Given the description of an element on the screen output the (x, y) to click on. 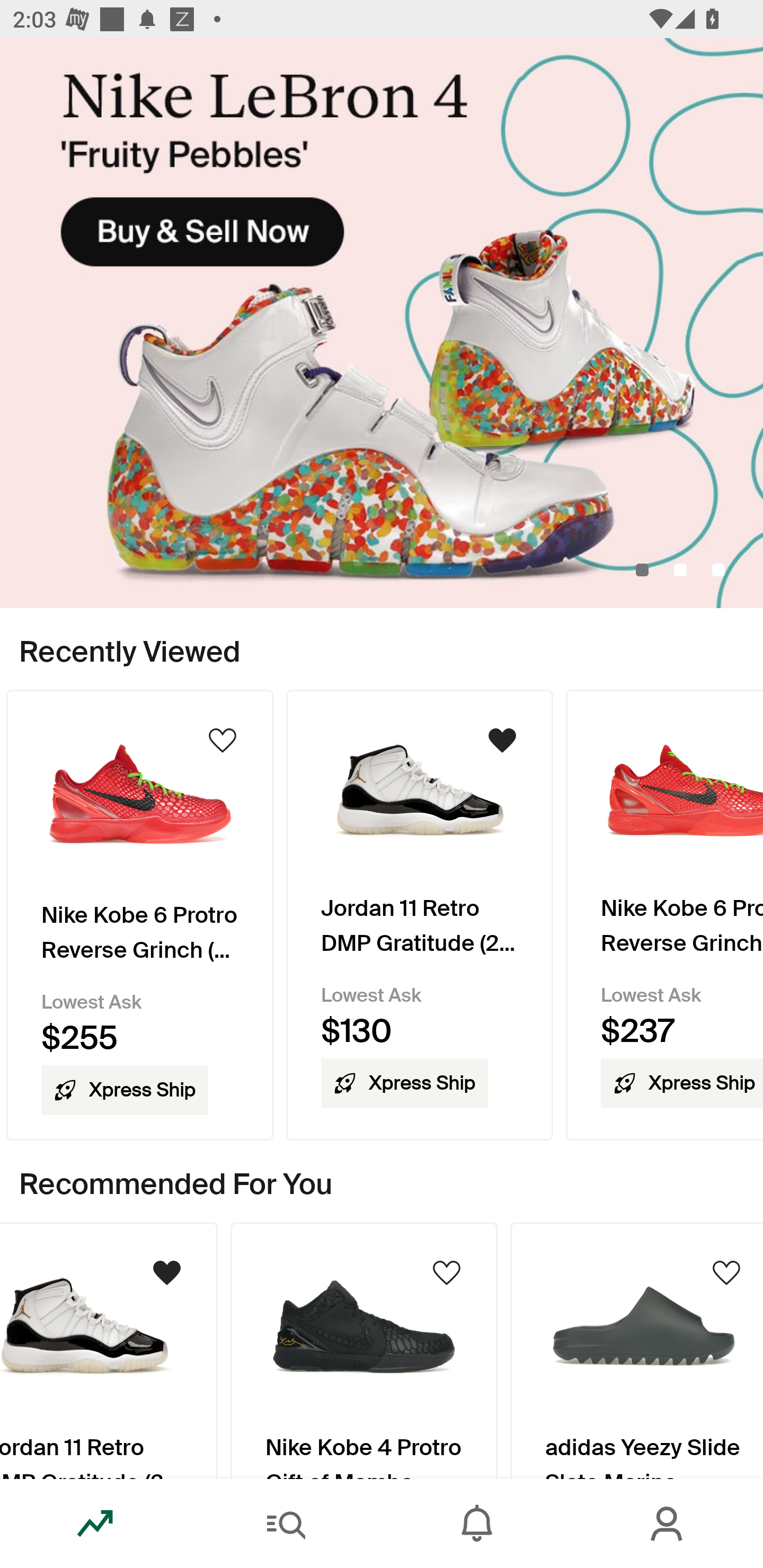
Product Image Nike Kobe 4 Protro Gift of Mamba (363, 1349)
Product Image adidas Yeezy Slide Slate Marine (636, 1349)
Search (285, 1523)
Inbox (476, 1523)
Account (667, 1523)
